Given the description of an element on the screen output the (x, y) to click on. 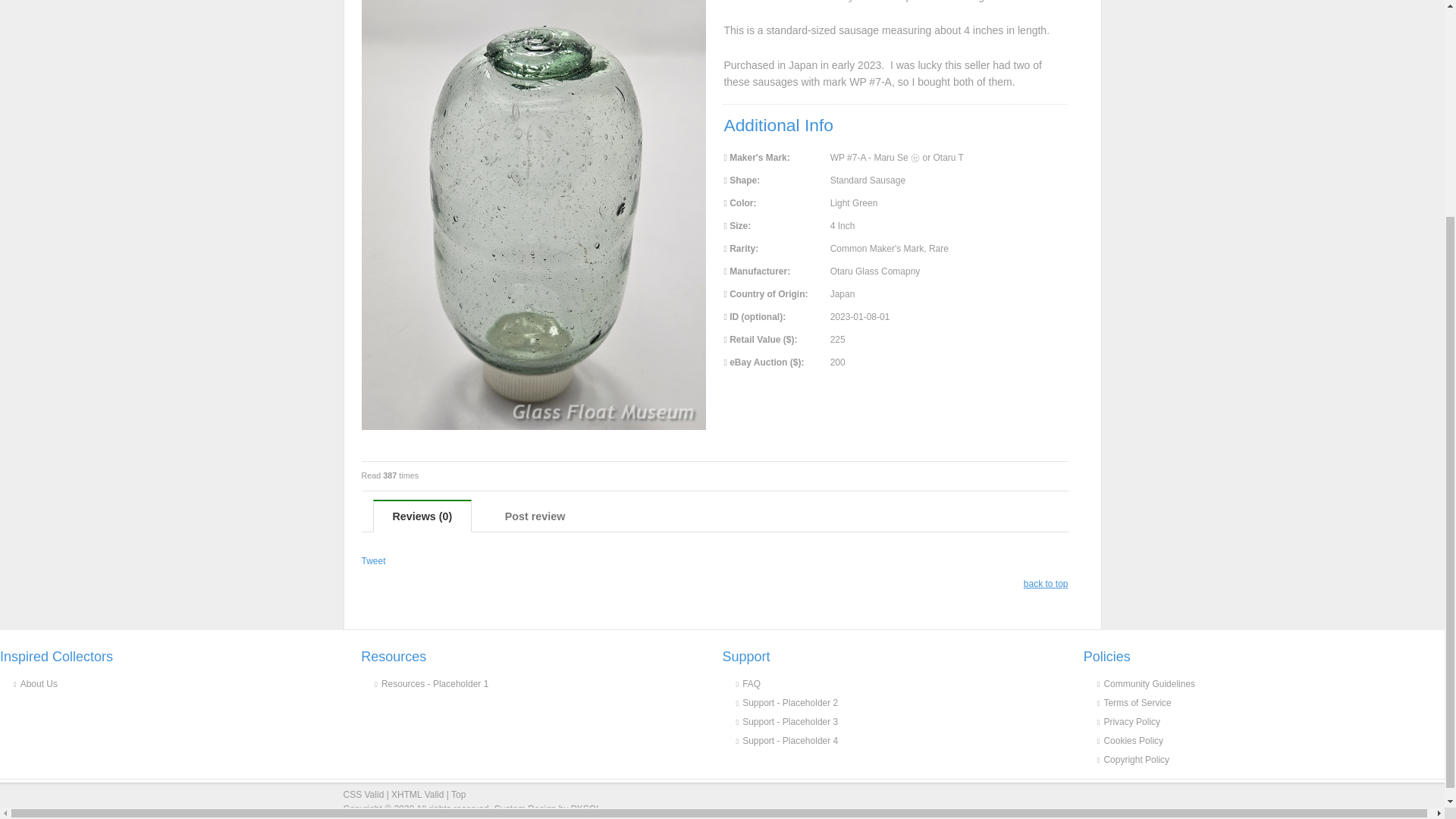
FAQ (904, 681)
About Us (183, 681)
Support - Placeholder 2 (904, 700)
Post review (534, 516)
XHTML Validity (417, 794)
Support - Placeholder 4 (904, 738)
Resources - Placeholder 1 (543, 681)
Support - Placeholder 3 (904, 719)
XHTML Valid (417, 794)
Top (458, 794)
Top (458, 794)
CSS Validity (363, 794)
Custom Design by PKSOL (546, 808)
Pksol (546, 808)
CSS Valid (363, 794)
